Given the description of an element on the screen output the (x, y) to click on. 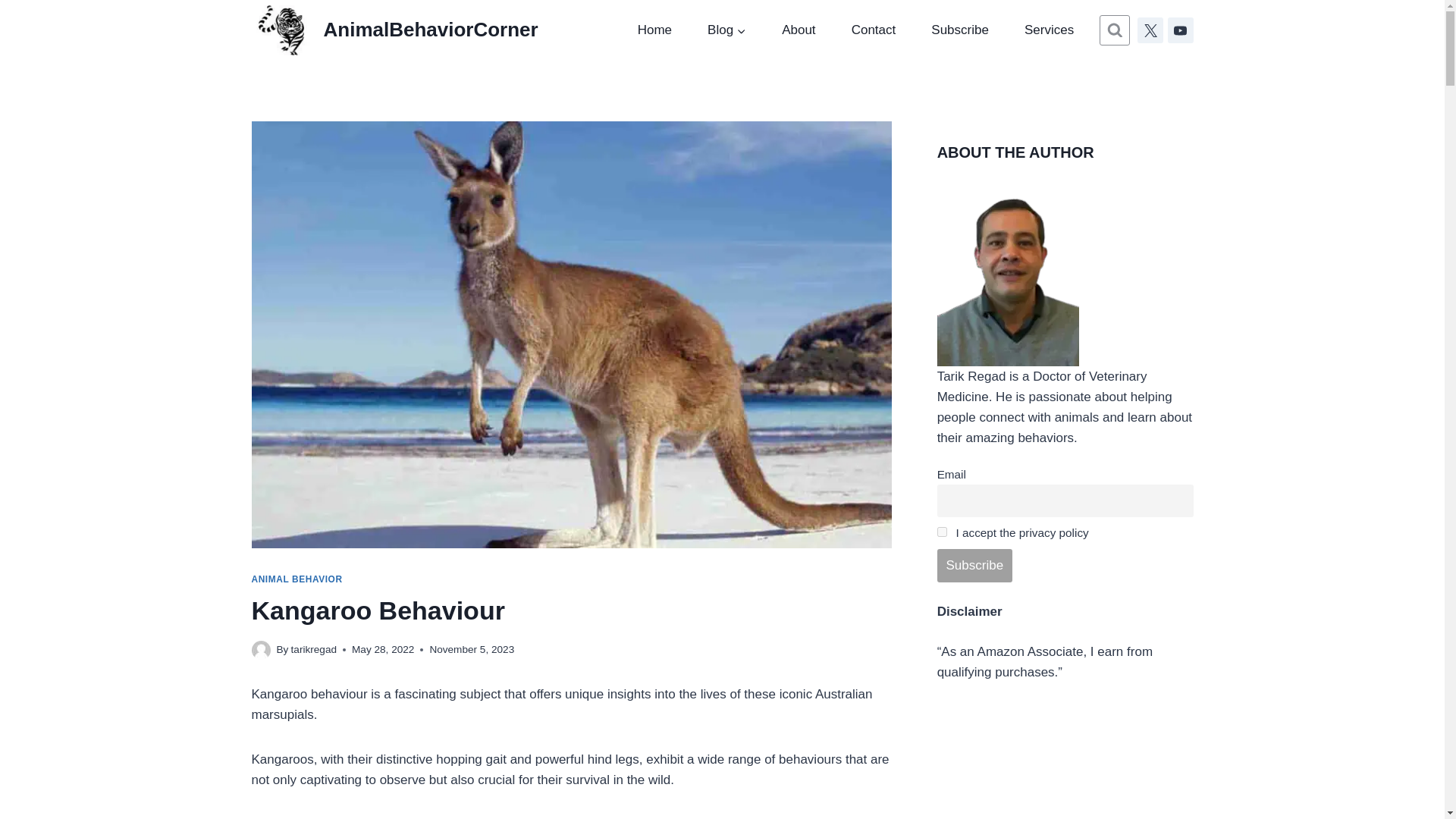
tarikregad (313, 649)
Blog (727, 30)
About (799, 30)
Subscribe (960, 30)
AnimalBehaviorCorner (394, 29)
Subscribe (974, 565)
on (942, 532)
Services (1048, 30)
Home (654, 30)
ANIMAL BEHAVIOR (296, 579)
Contact (873, 30)
